Given the description of an element on the screen output the (x, y) to click on. 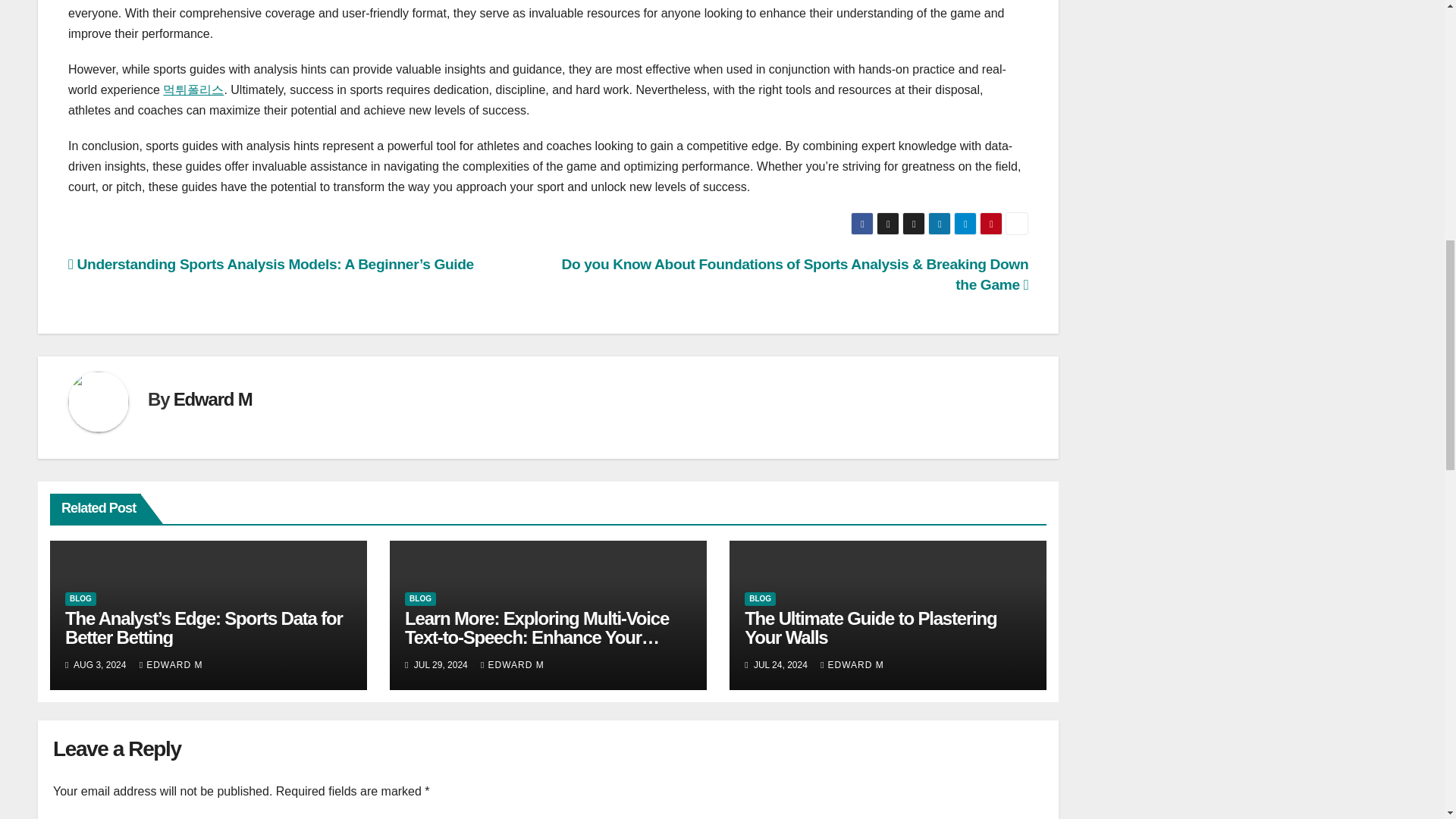
EDWARD M (171, 665)
Permalink to: The Ultimate Guide to Plastering Your Walls (869, 627)
Edward M (212, 399)
BLOG (80, 599)
BLOG (419, 599)
